Given the description of an element on the screen output the (x, y) to click on. 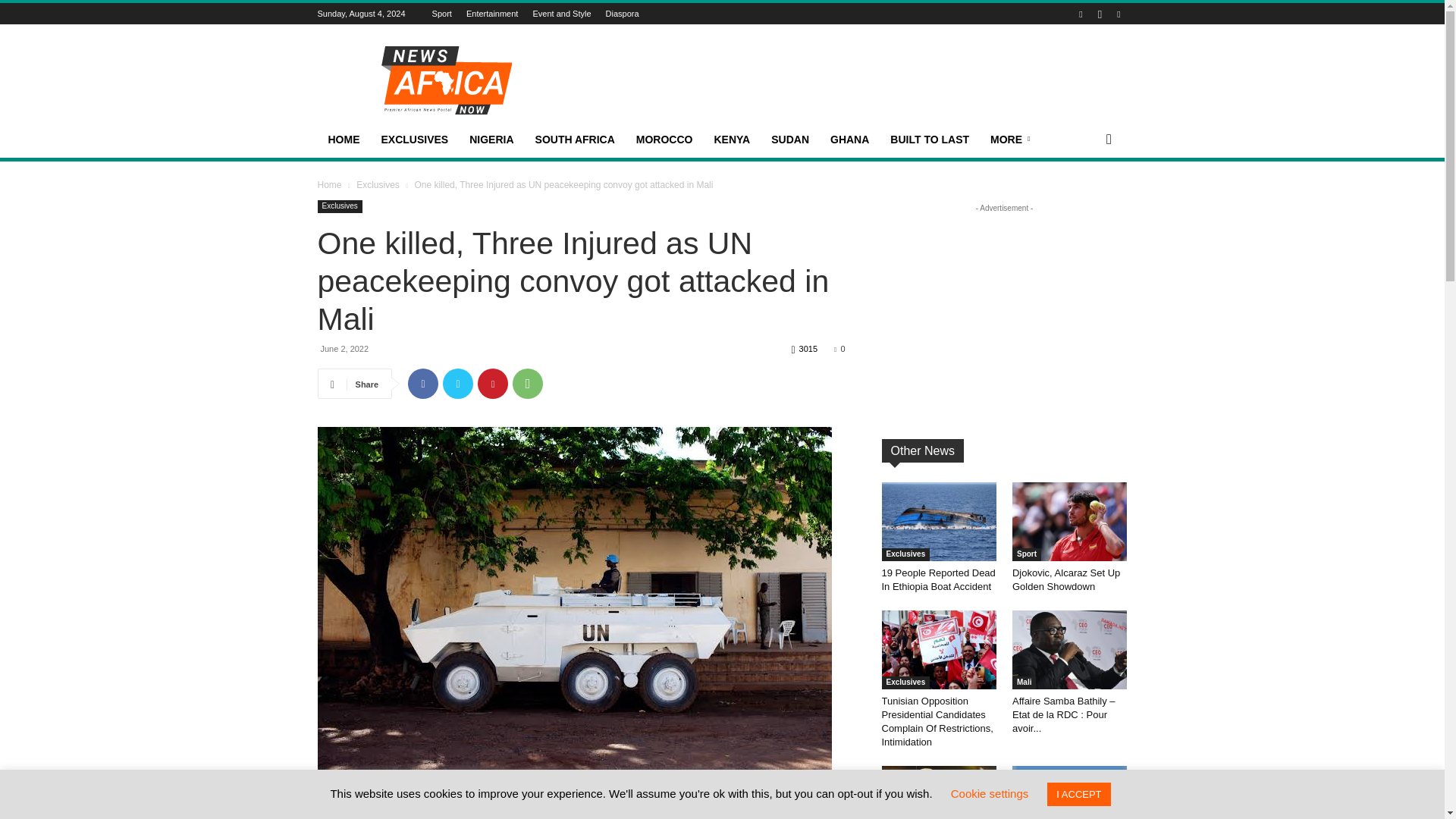
WhatsApp (527, 383)
Entertainment (491, 13)
Sport (441, 13)
Advertisement (850, 79)
EXCLUSIVES (413, 139)
Pinterest (492, 383)
Diaspora (622, 13)
Twitter (457, 383)
MOROCCO (664, 139)
